Given the description of an element on the screen output the (x, y) to click on. 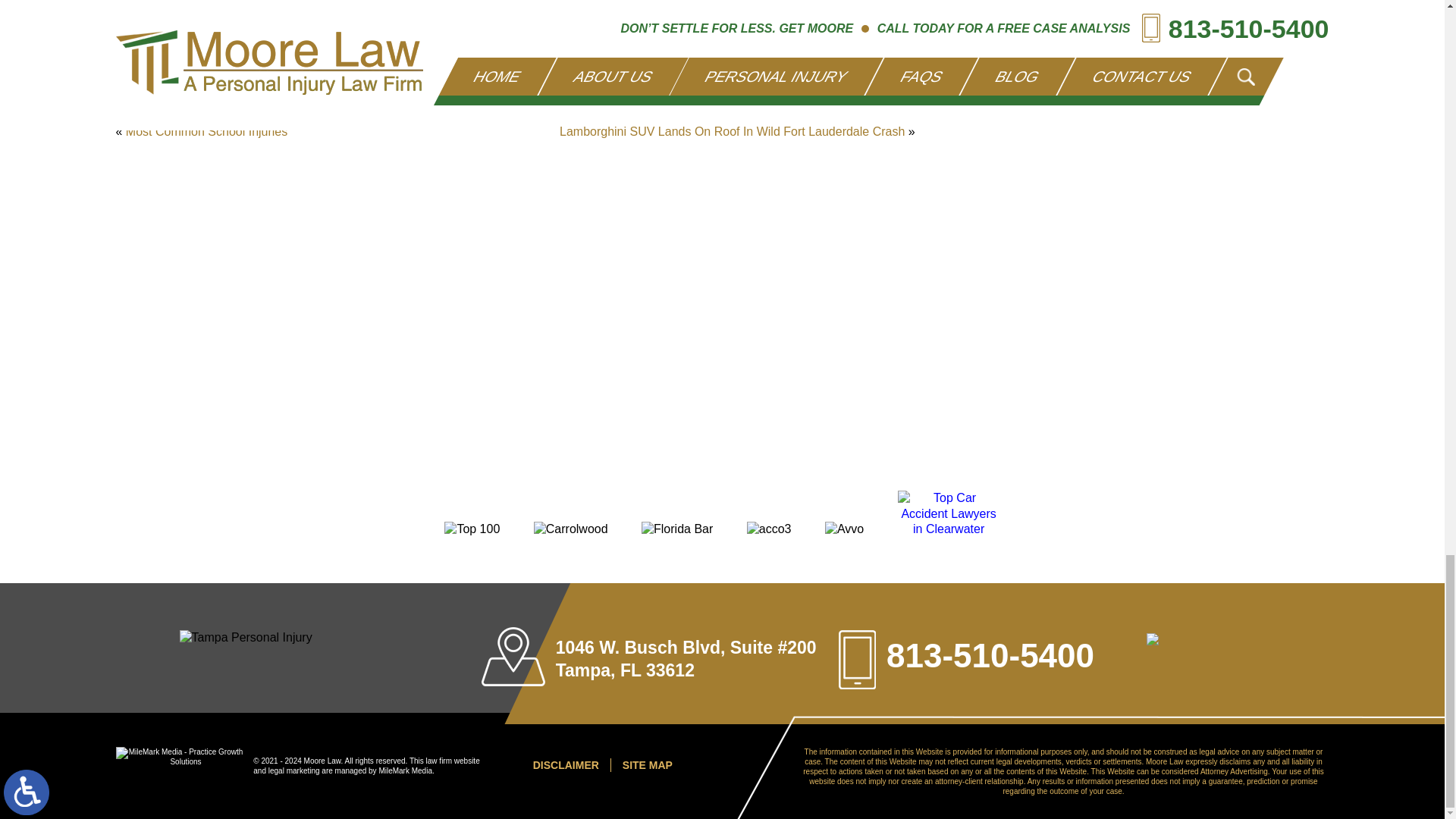
LinkedIn (160, 75)
Twitter (149, 75)
2022-09-26T03:00:57-0700 (295, 105)
Facebook (139, 75)
